Given the description of an element on the screen output the (x, y) to click on. 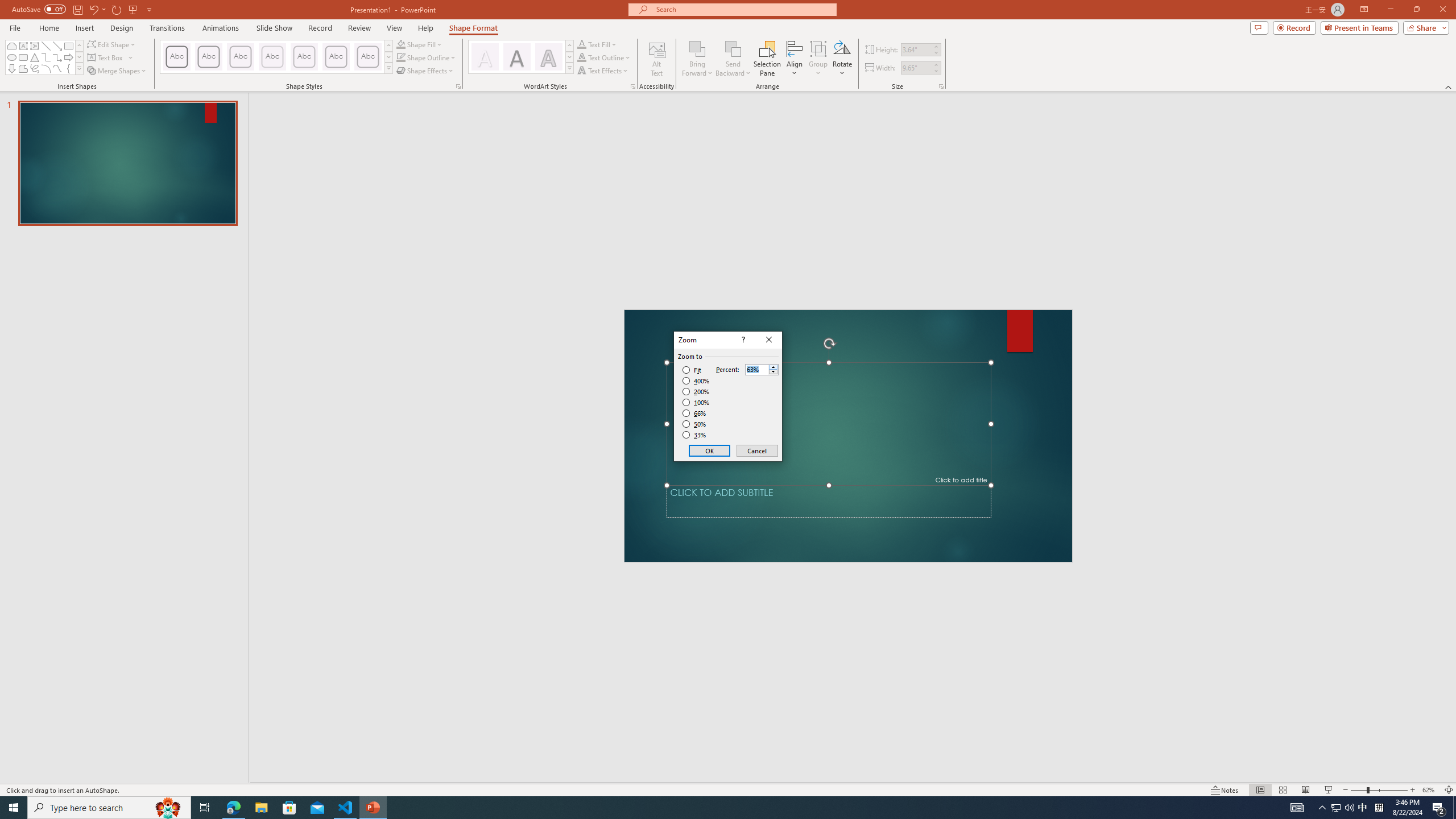
Shape Width (915, 67)
Alt Text (656, 58)
Microsoft Edge - 1 running window (233, 807)
Shape Height (915, 49)
